Given the description of an element on the screen output the (x, y) to click on. 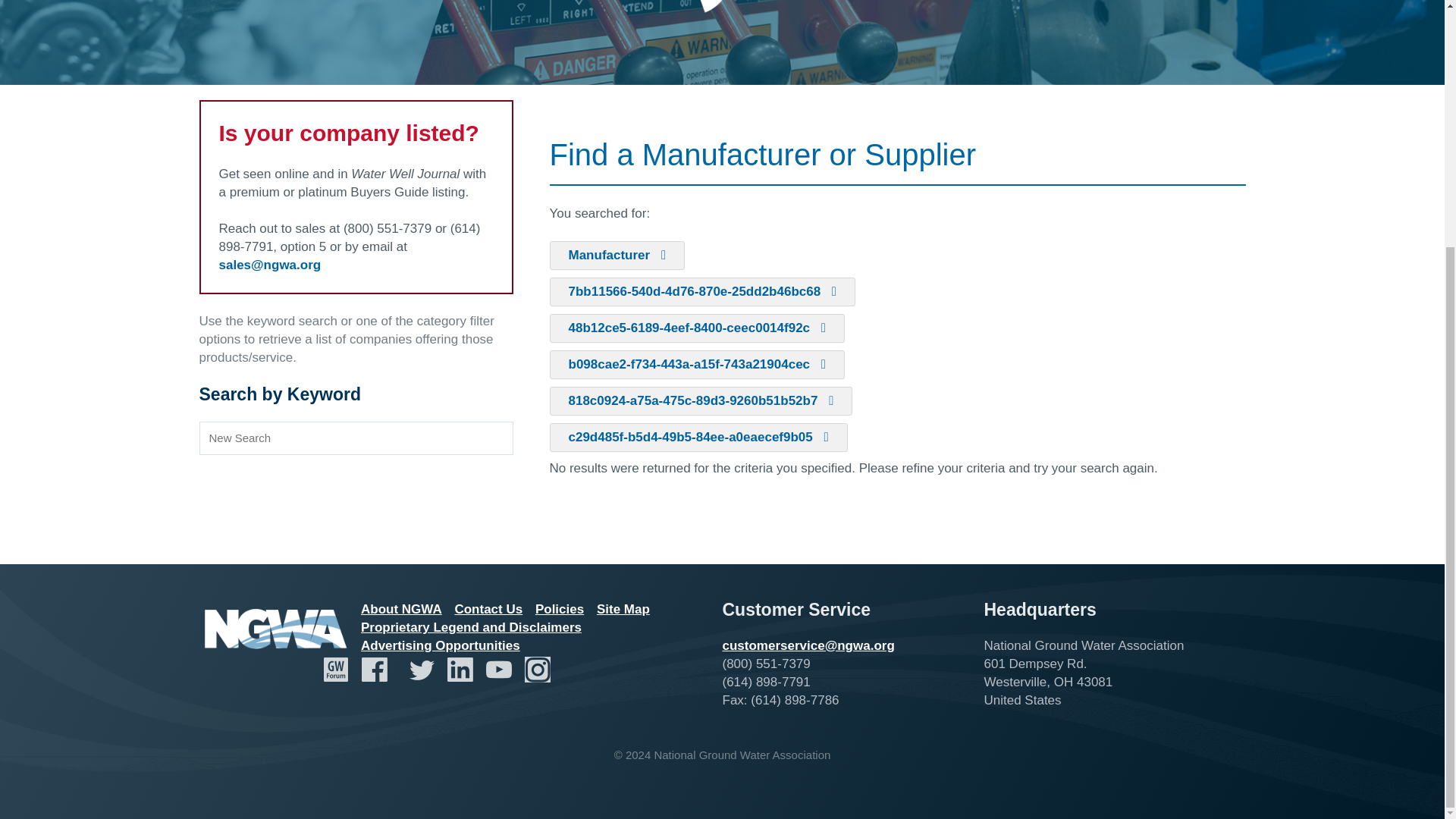
NGWA new logo white (274, 630)
icon-social-ig (537, 669)
Buyers Guide (722, 42)
